Given the description of an element on the screen output the (x, y) to click on. 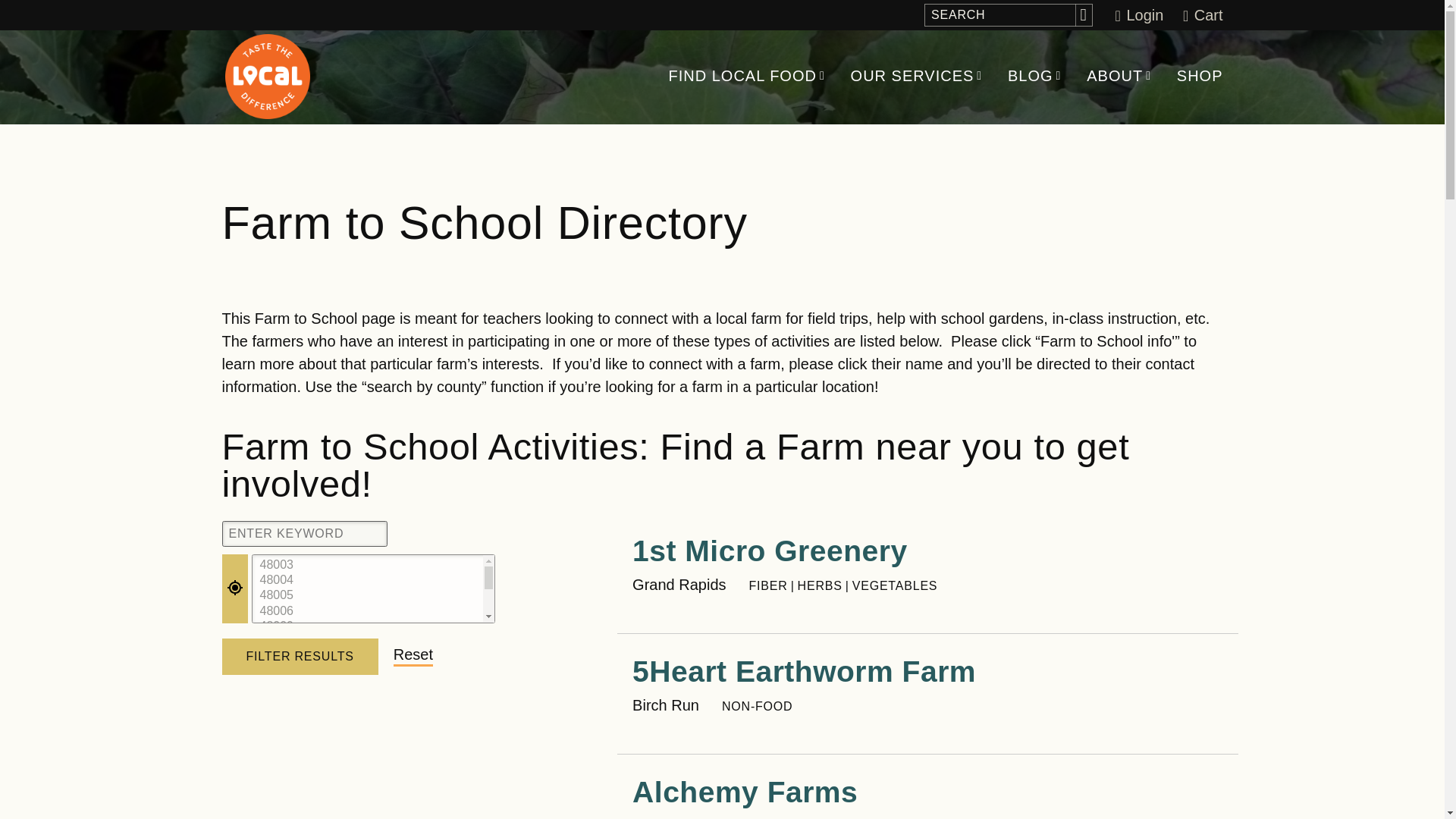
Login (1139, 14)
FILTER RESULTS (299, 656)
ABOUT (1114, 74)
Taste the Local Difference (267, 76)
FIND LOCAL FOOD (742, 74)
Cart (1202, 14)
OUR SERVICES (912, 74)
SHOP (1199, 74)
BLOG (1029, 74)
